Given the description of an element on the screen output the (x, y) to click on. 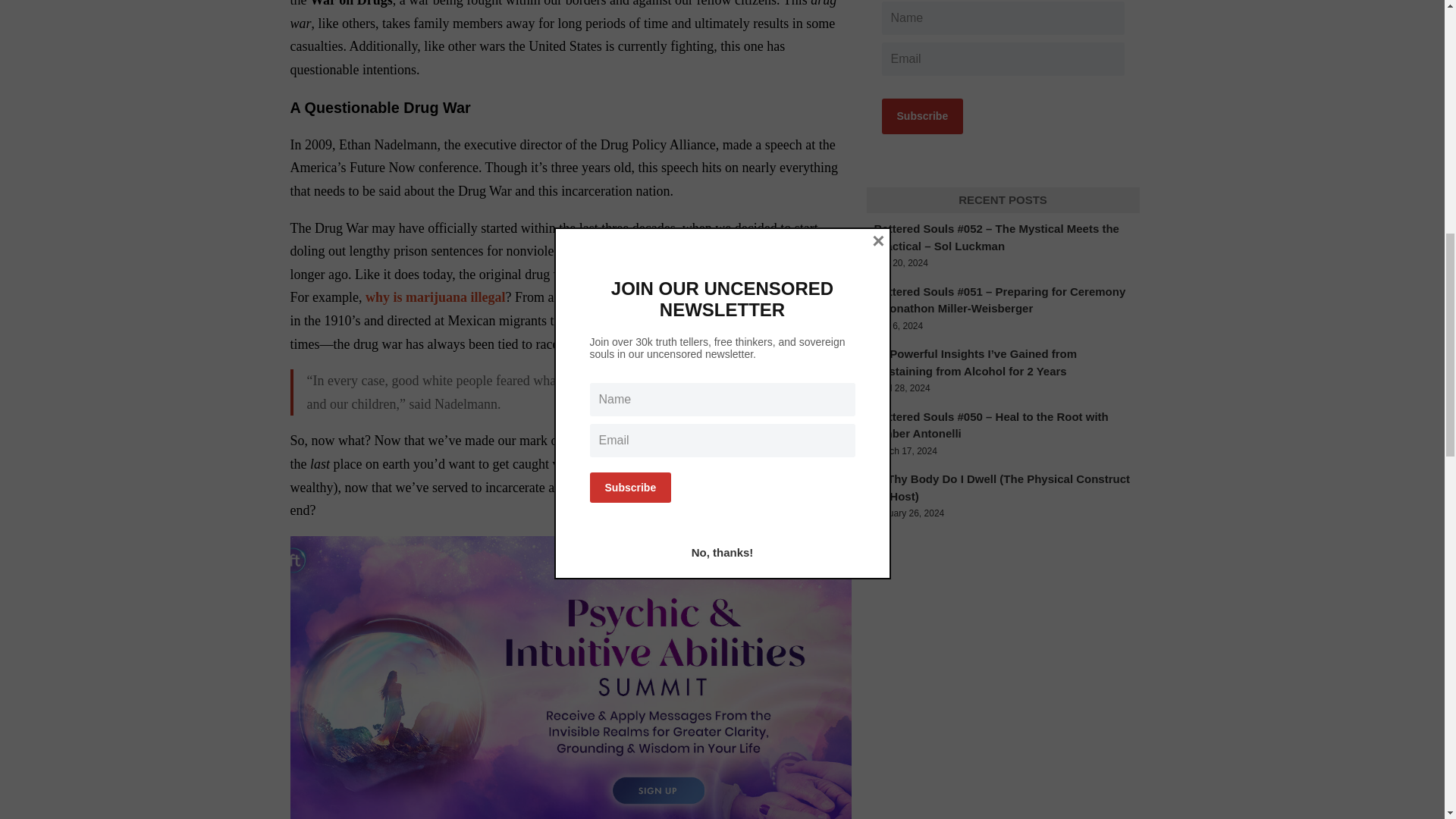
why is marijuana illegal (435, 296)
Subscribe (921, 116)
